Given the description of an element on the screen output the (x, y) to click on. 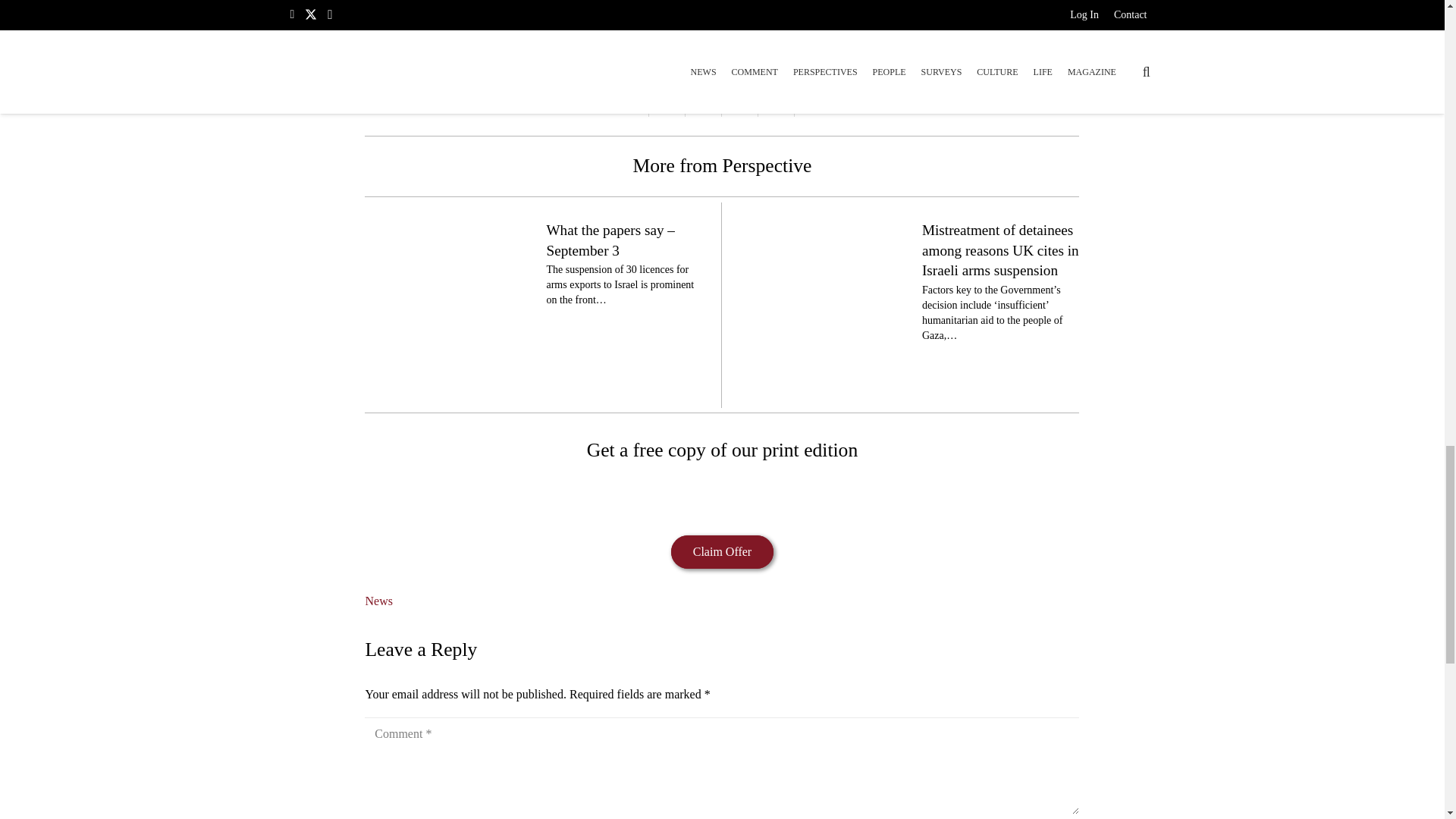
Claim Offer (722, 552)
Share this (812, 104)
Email this (630, 104)
Share this (667, 104)
News (378, 600)
Share this (740, 104)
Share this (776, 104)
Tweet this (703, 104)
